Given the description of an element on the screen output the (x, y) to click on. 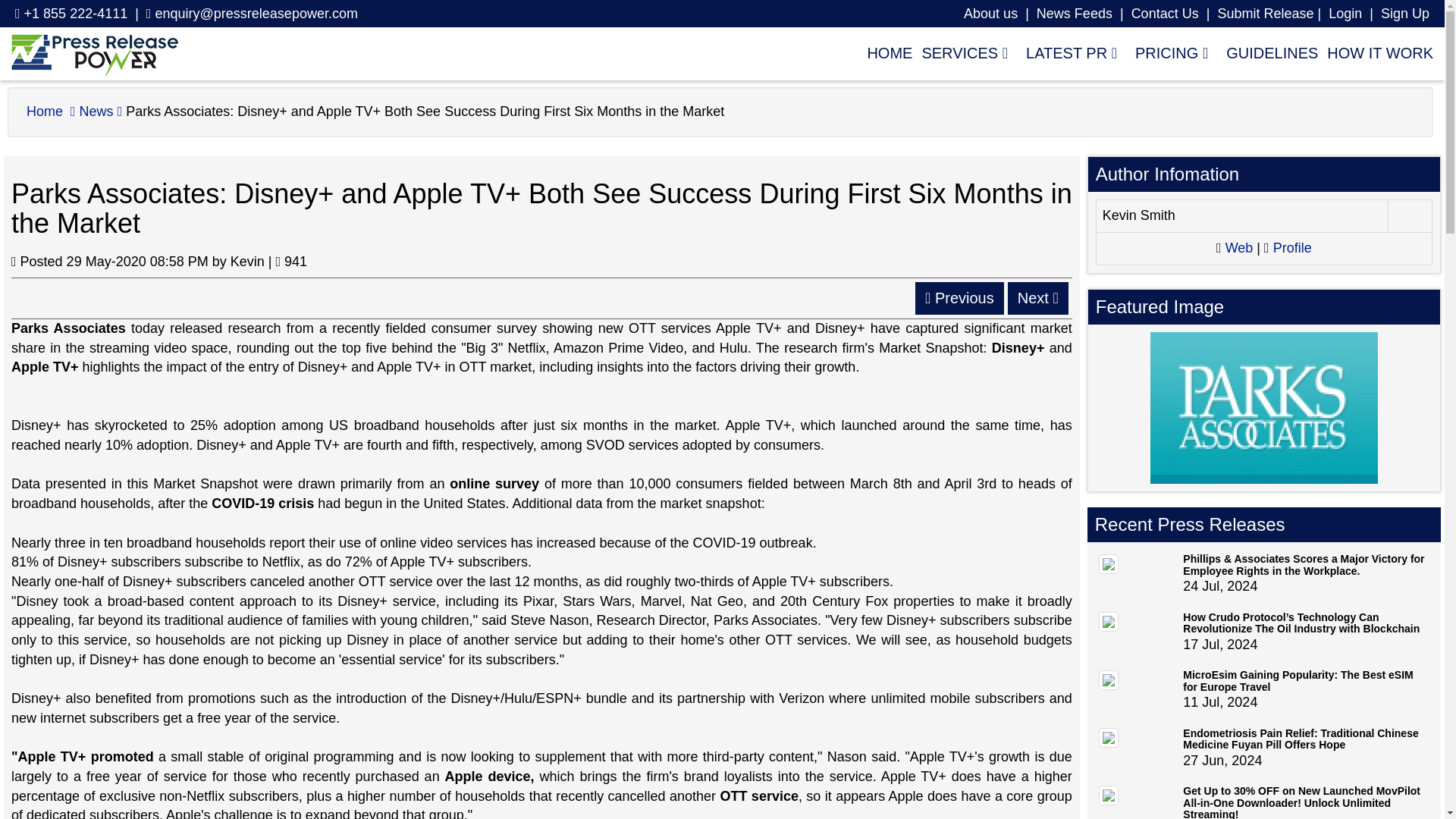
Contact Us (1164, 13)
Login (1344, 13)
PRICING (1171, 52)
News Feeds (1074, 13)
Submit Release (1265, 13)
HOW IT WORK (1374, 52)
Login (1404, 13)
Press Release Distribution Free (94, 53)
Login (1344, 13)
Sign Up (1404, 13)
